Given the description of an element on the screen output the (x, y) to click on. 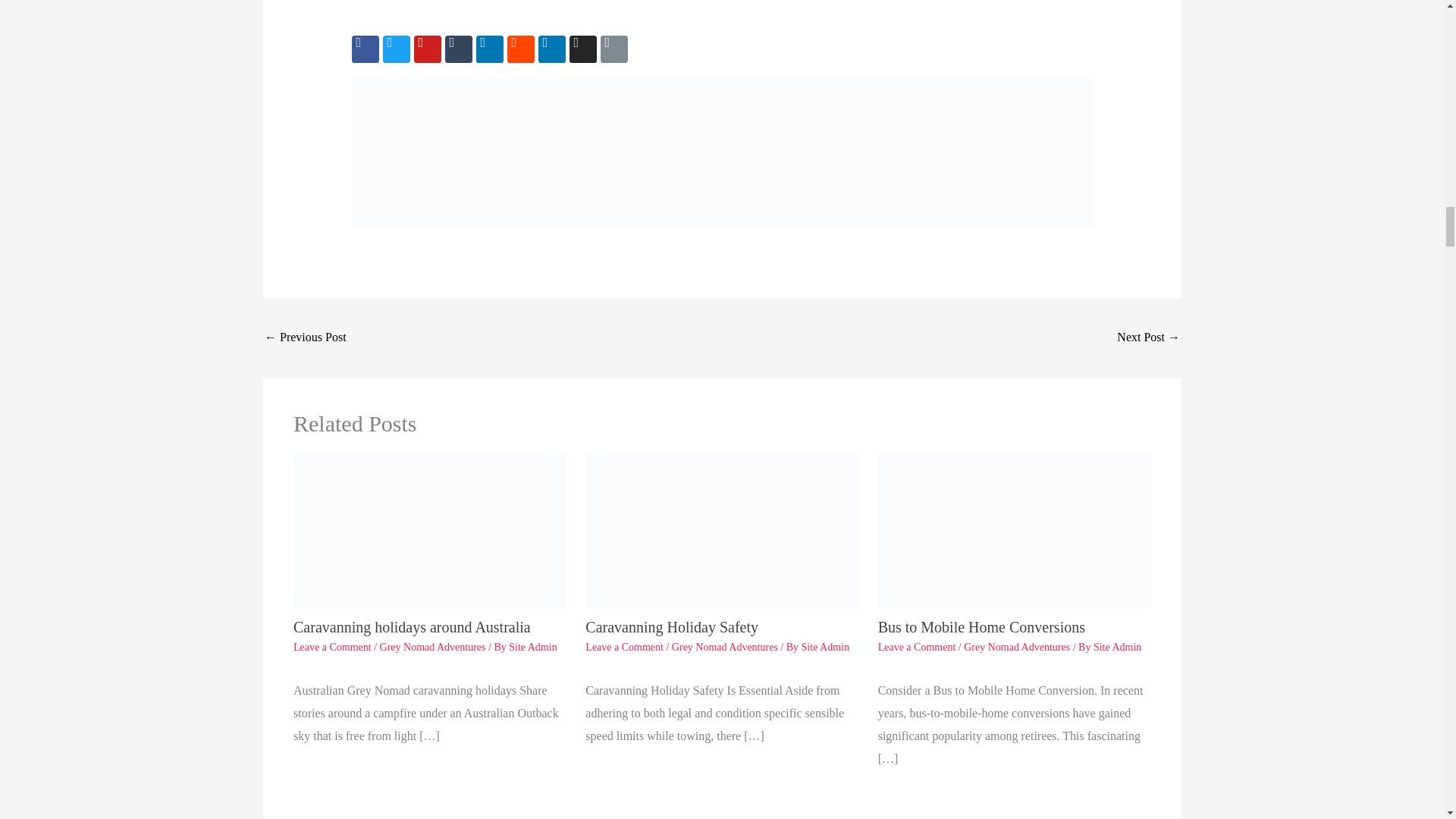
View all posts by Site Admin (825, 646)
View all posts by Site Admin (532, 646)
Bus to Mobile Home Conversions (305, 338)
View all posts by Site Admin (1117, 646)
The Serenity of Camping (1147, 338)
